Given the description of an element on the screen output the (x, y) to click on. 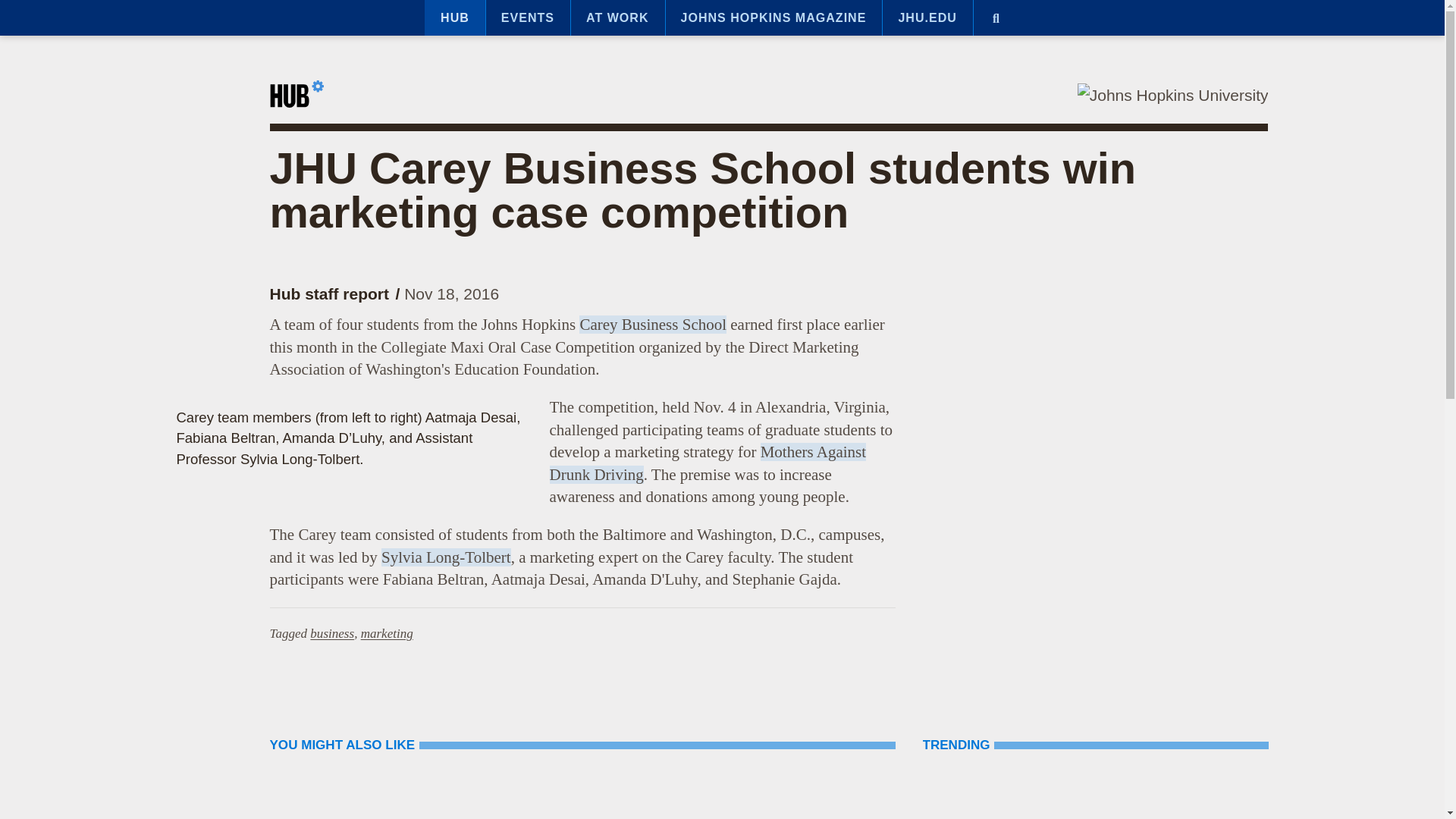
Johns Hopkins University (1172, 95)
HUB (454, 18)
JOHNS HOPKINS MAGAZINE (773, 18)
Carey Business School (652, 324)
EVENTS (527, 18)
JHU.EDU (927, 18)
AT WORK (616, 18)
